Given the description of an element on the screen output the (x, y) to click on. 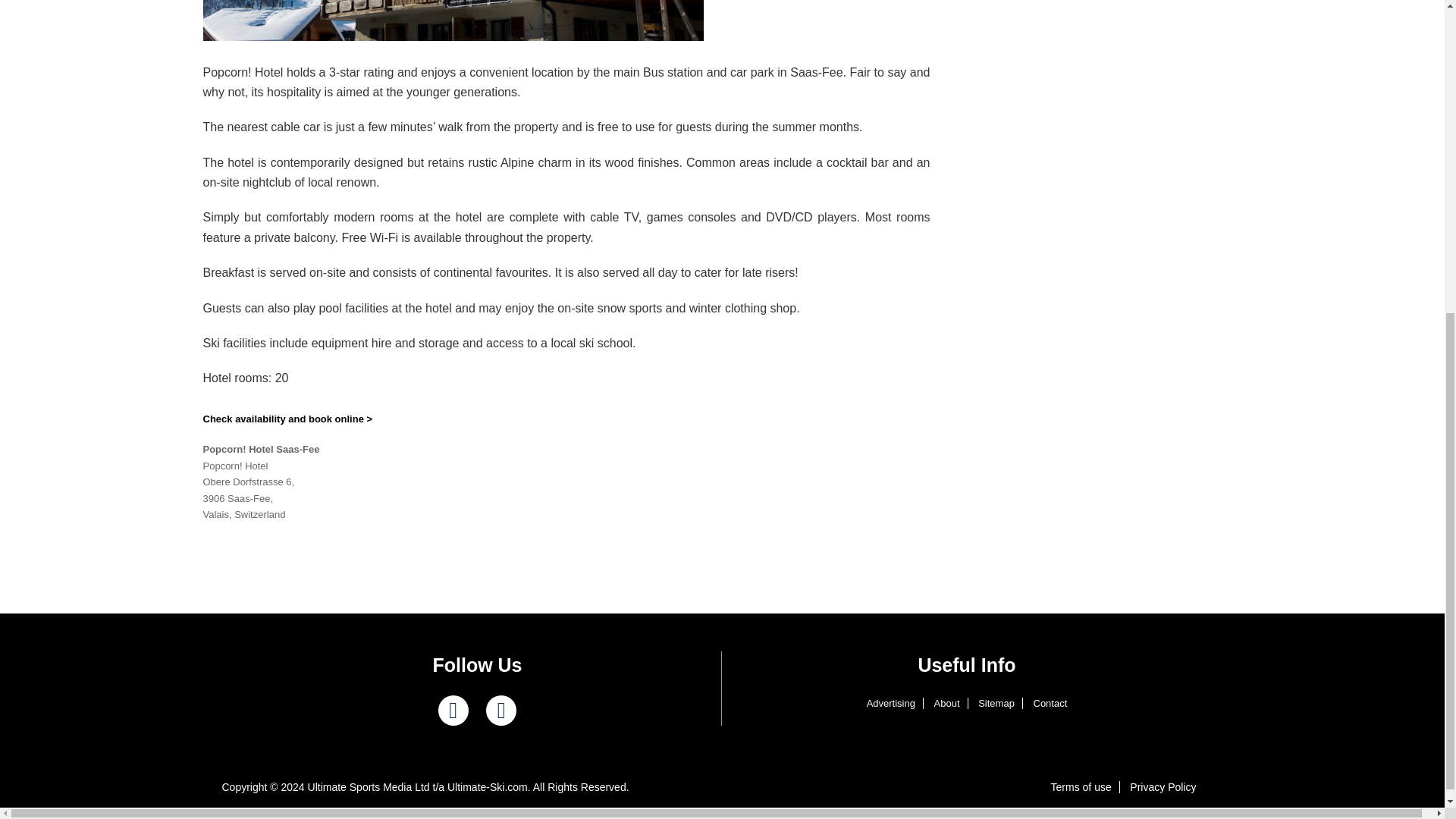
Contact (1049, 703)
Privacy Policy (1163, 787)
Terms of use (1081, 787)
About (947, 703)
Advertising (891, 703)
Sitemap (997, 703)
